Given the description of an element on the screen output the (x, y) to click on. 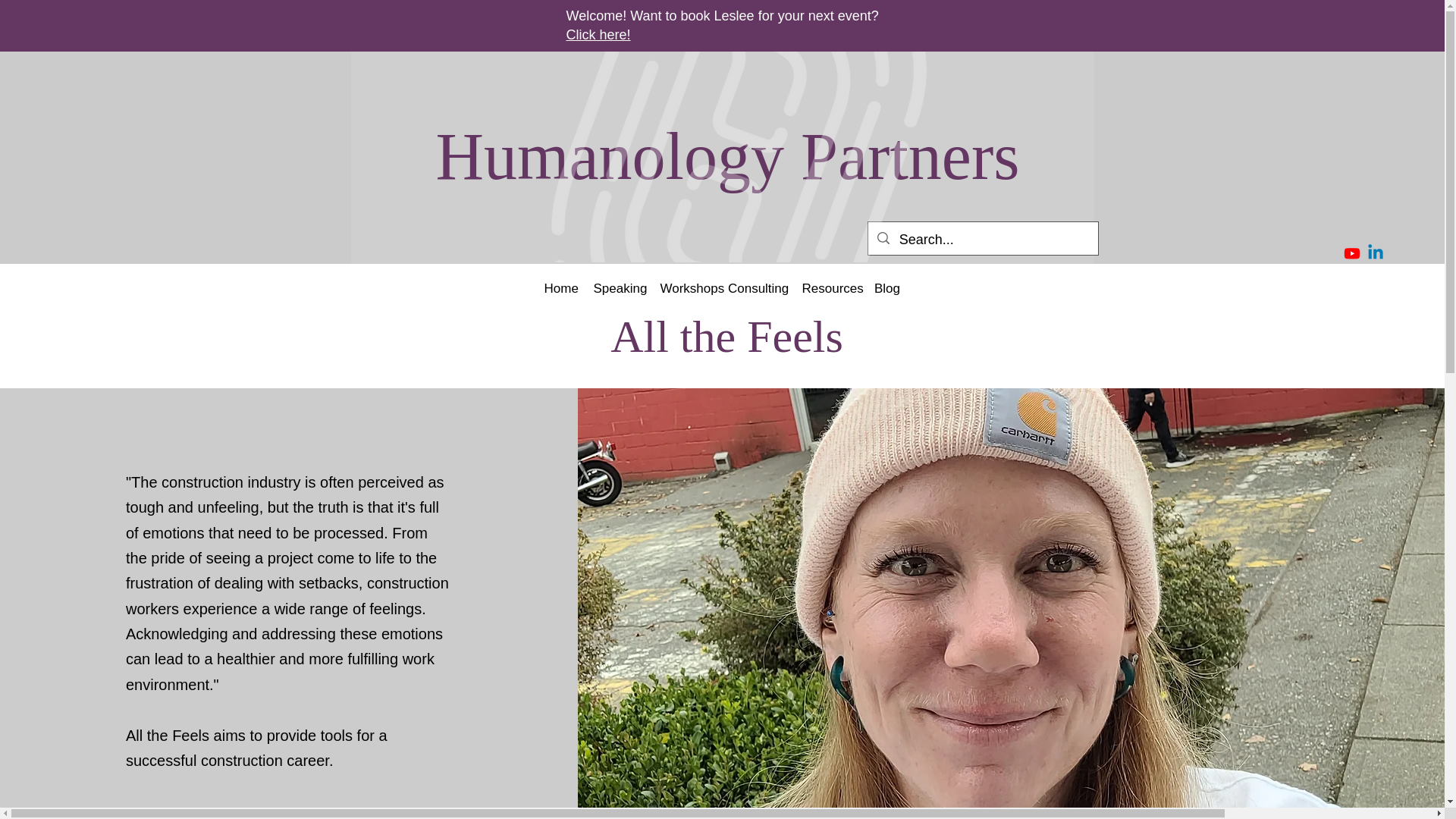
Click here! (598, 34)
Blog (886, 288)
Workshops Consulting (722, 288)
Speaking (618, 288)
Resources (830, 288)
Home (561, 288)
